Given the description of an element on the screen output the (x, y) to click on. 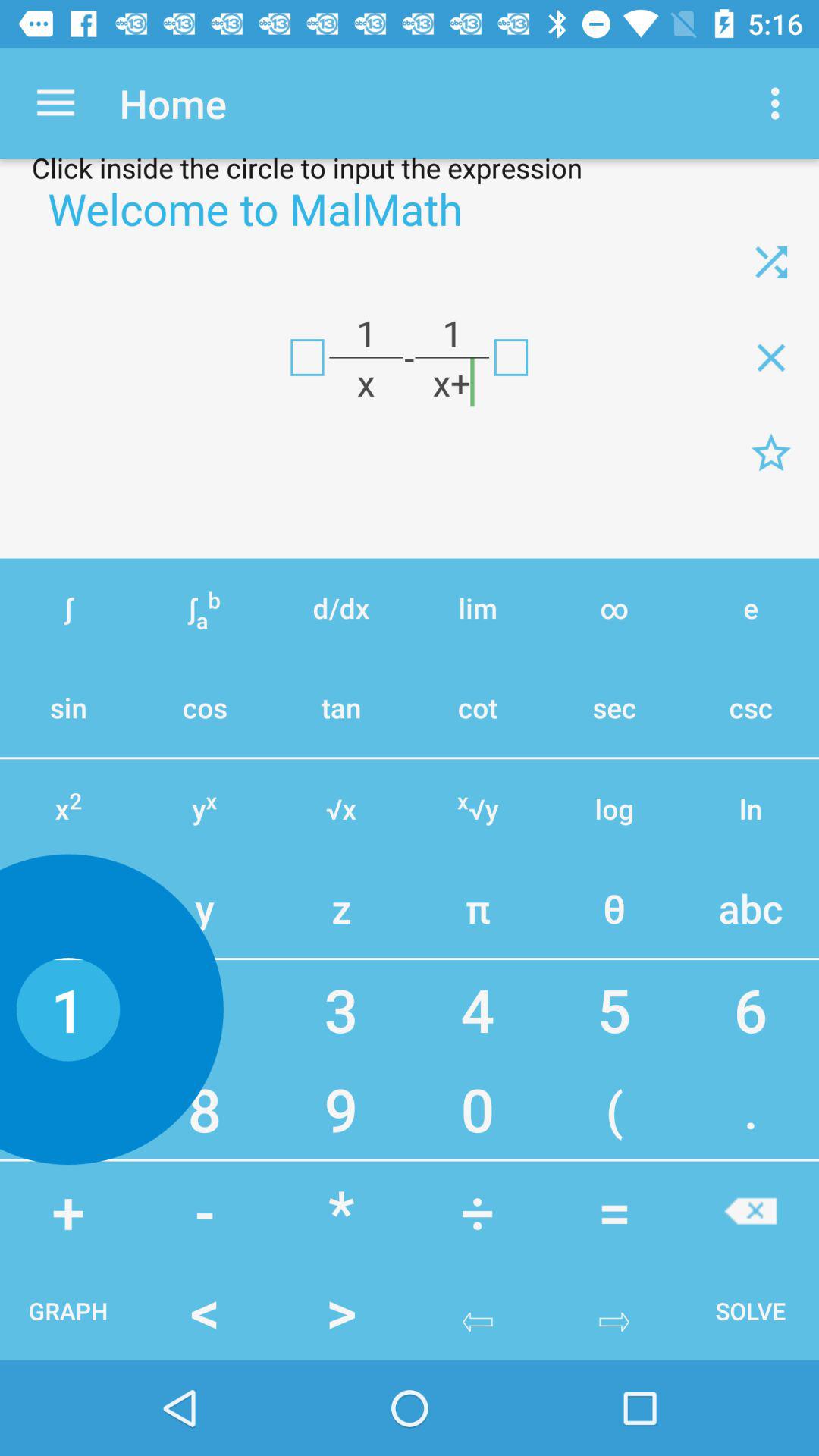
exit button (510, 357)
